Given the description of an element on the screen output the (x, y) to click on. 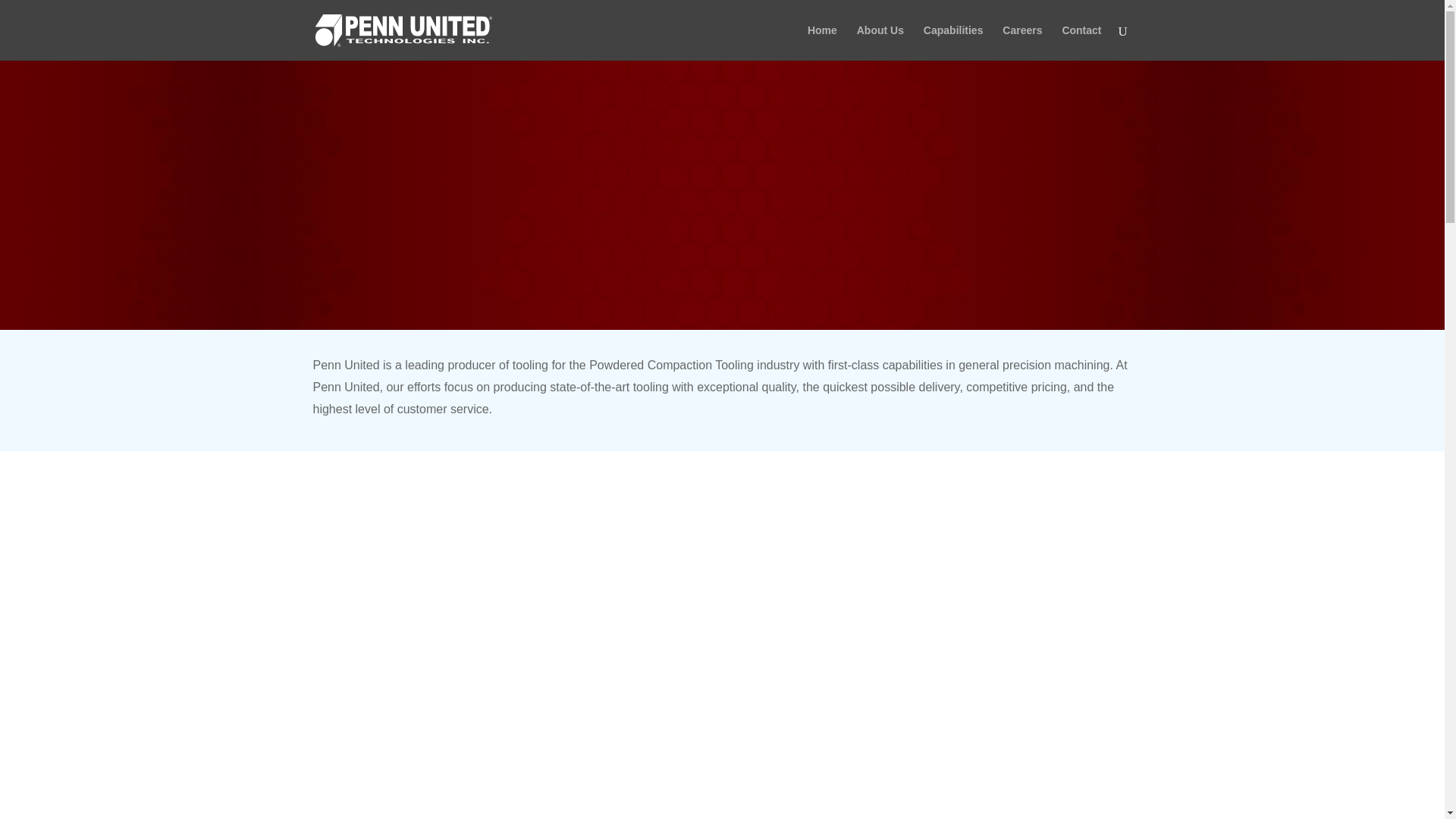
Careers (1022, 42)
About Us (880, 42)
Contact (1080, 42)
Capabilities (953, 42)
